Given the description of an element on the screen output the (x, y) to click on. 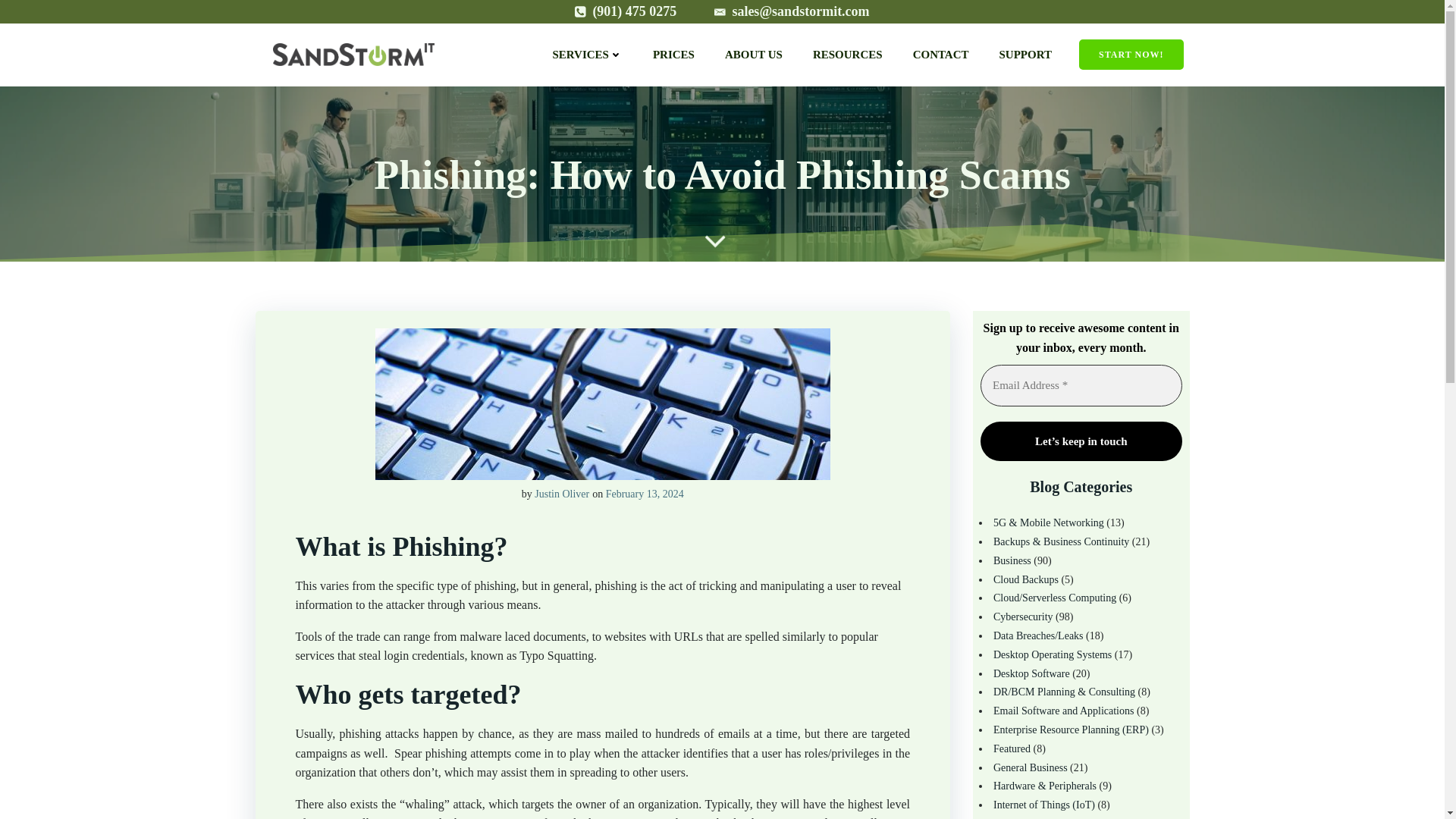
RESOURCES (847, 54)
Email Software and Applications (1063, 710)
SUPPORT (1024, 54)
Featured (1011, 748)
CONTACT (940, 54)
Justin Oliver (561, 493)
START NOW! (1130, 54)
Cybersecurity (1022, 616)
Cloud Backups (1025, 579)
PRICES (673, 54)
February 13, 2024 (644, 493)
Desktop Software (1031, 673)
Business (1011, 560)
Email Address (1080, 385)
SERVICES (587, 54)
